Given the description of an element on the screen output the (x, y) to click on. 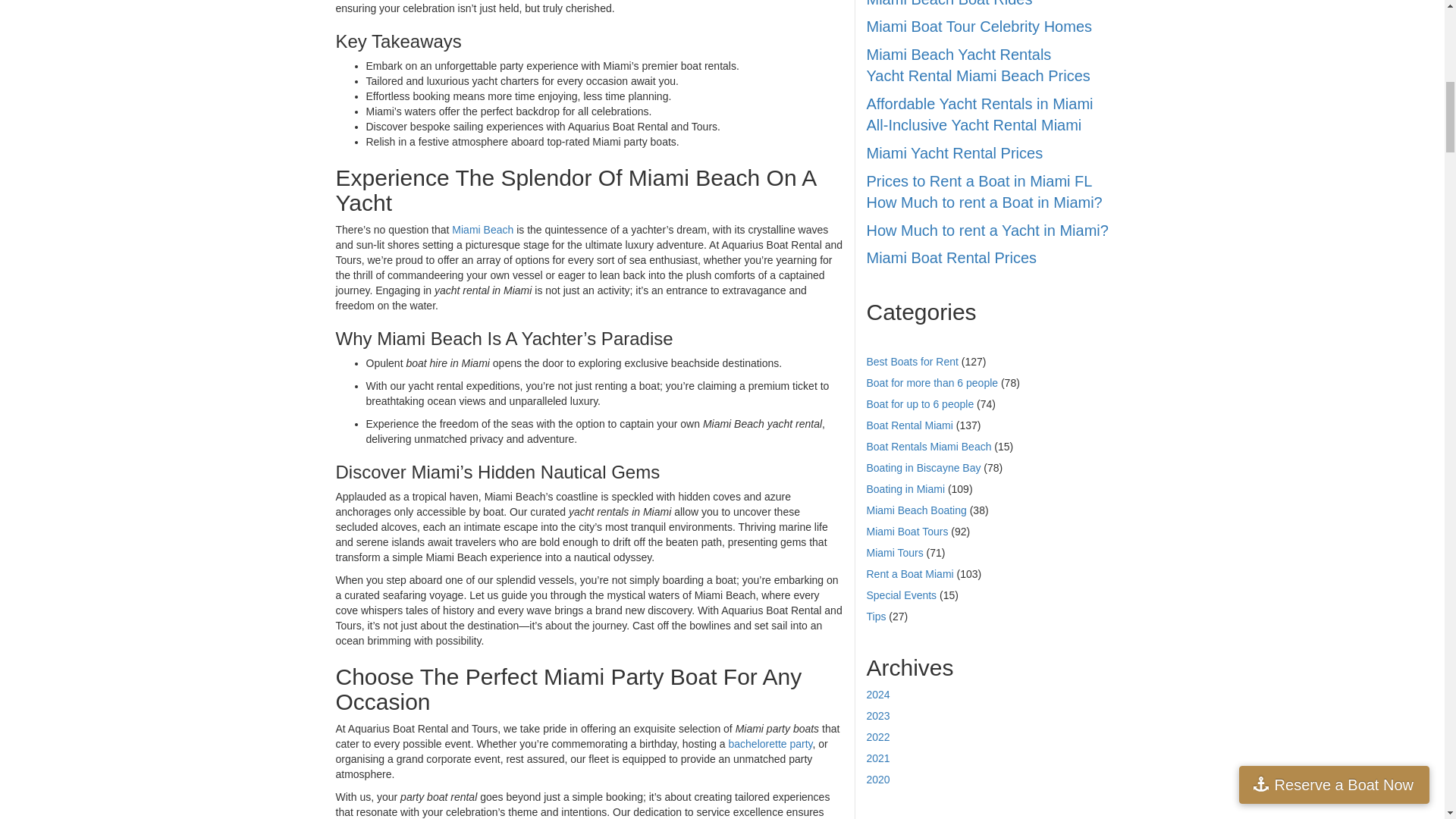
Miami Beach (482, 229)
bachelorette party (770, 743)
FareHarbor (1342, 64)
